Given the description of an element on the screen output the (x, y) to click on. 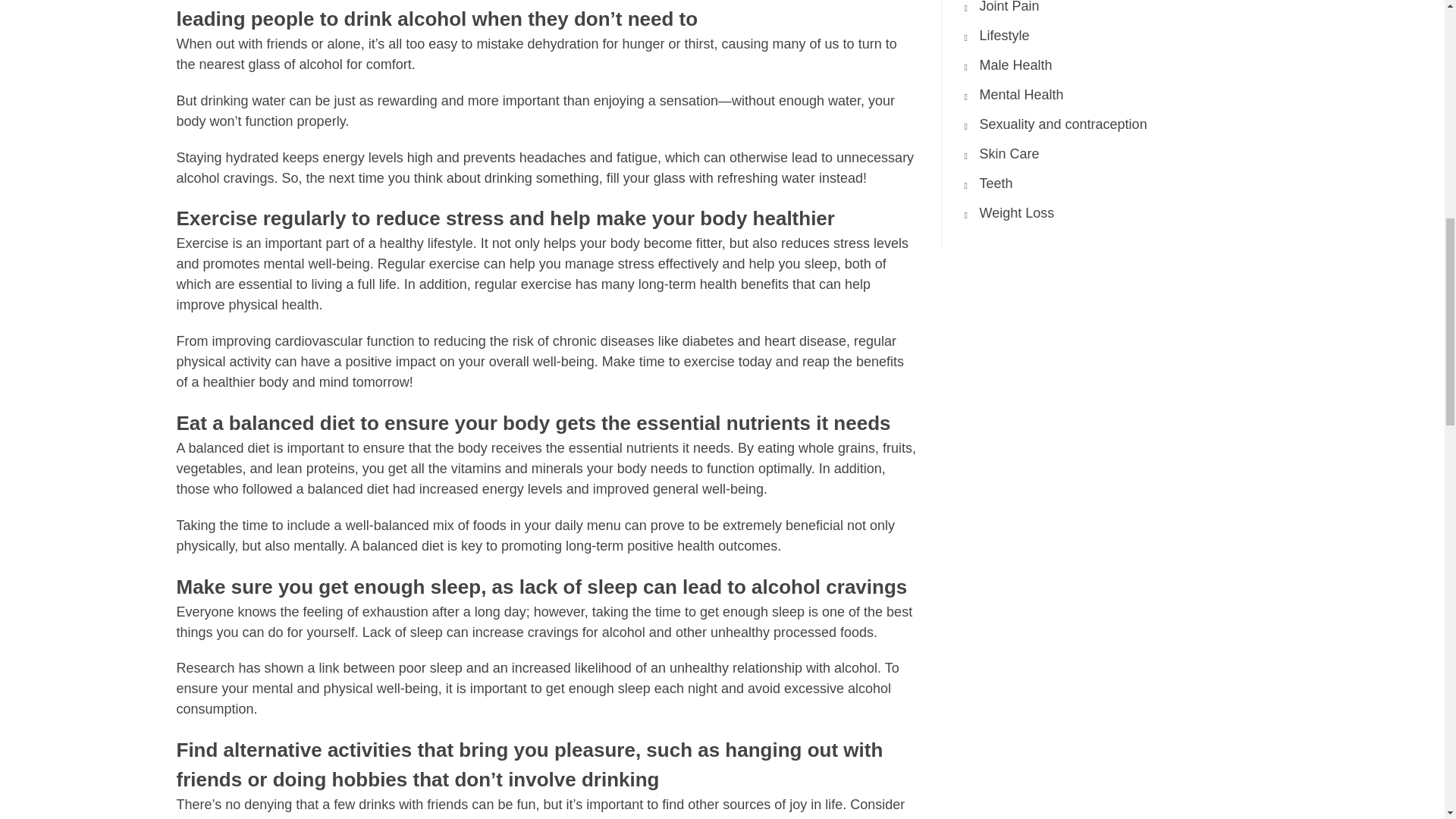
Joint Pain (1009, 6)
